Given the description of an element on the screen output the (x, y) to click on. 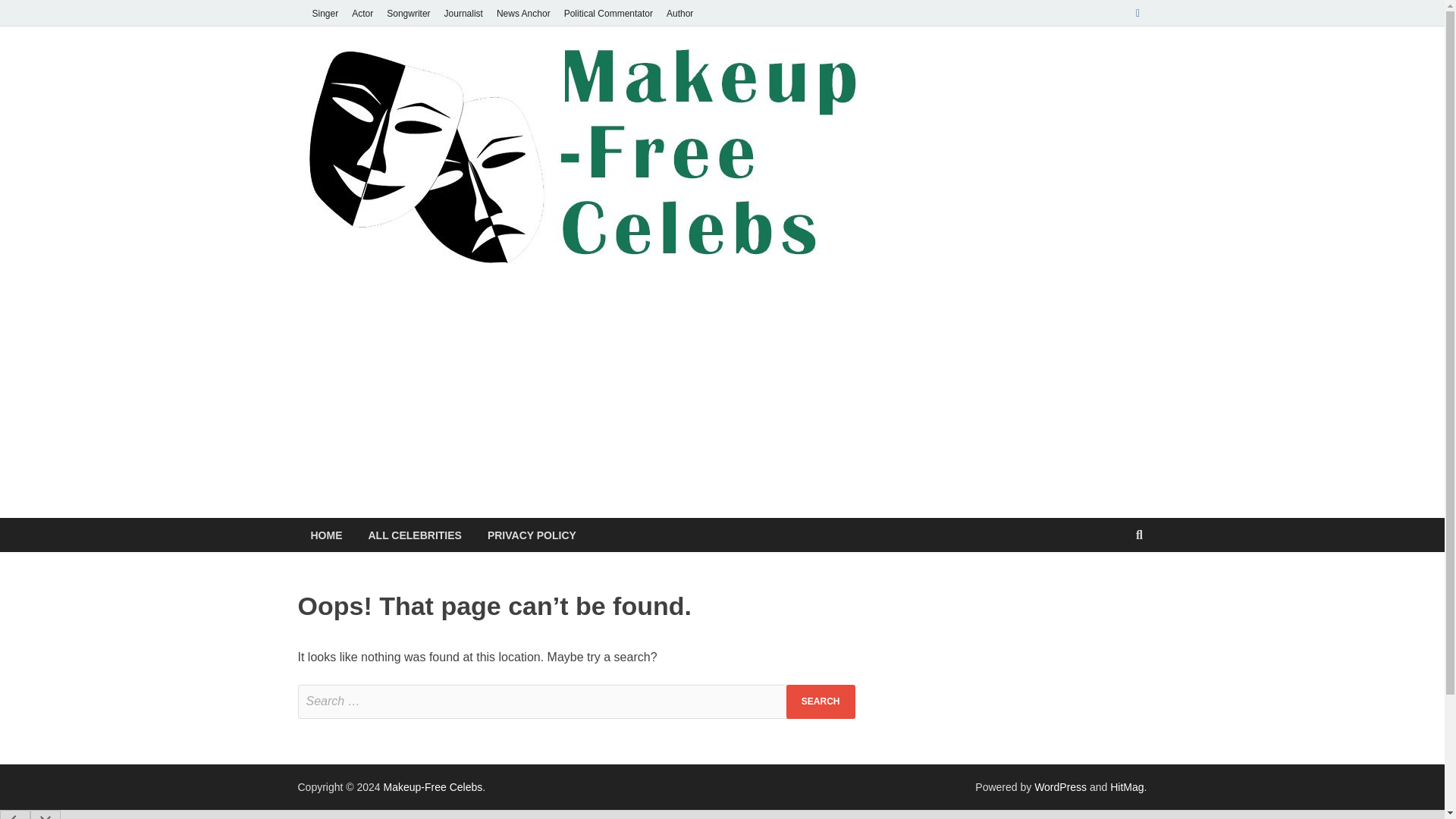
Makeup-Free Celebs (433, 787)
Search (821, 701)
HOME (326, 534)
HitMag (1125, 787)
Makeup-Free Celebs (433, 787)
News Anchor (523, 13)
Political Commentator (608, 13)
Actor (362, 13)
PRIVACY POLICY (531, 534)
